Given the description of an element on the screen output the (x, y) to click on. 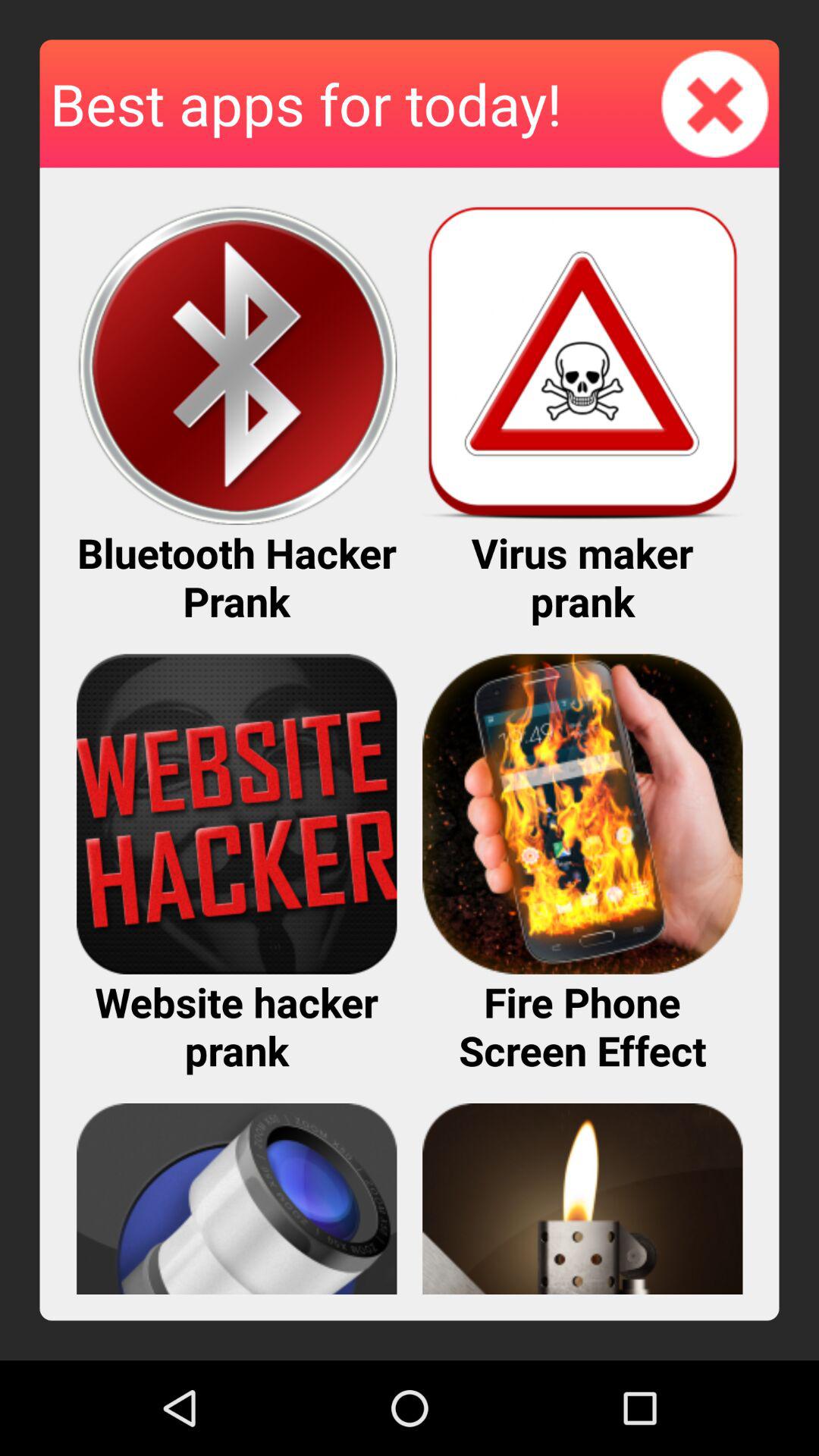
open item next to the best apps for (714, 103)
